Given the description of an element on the screen output the (x, y) to click on. 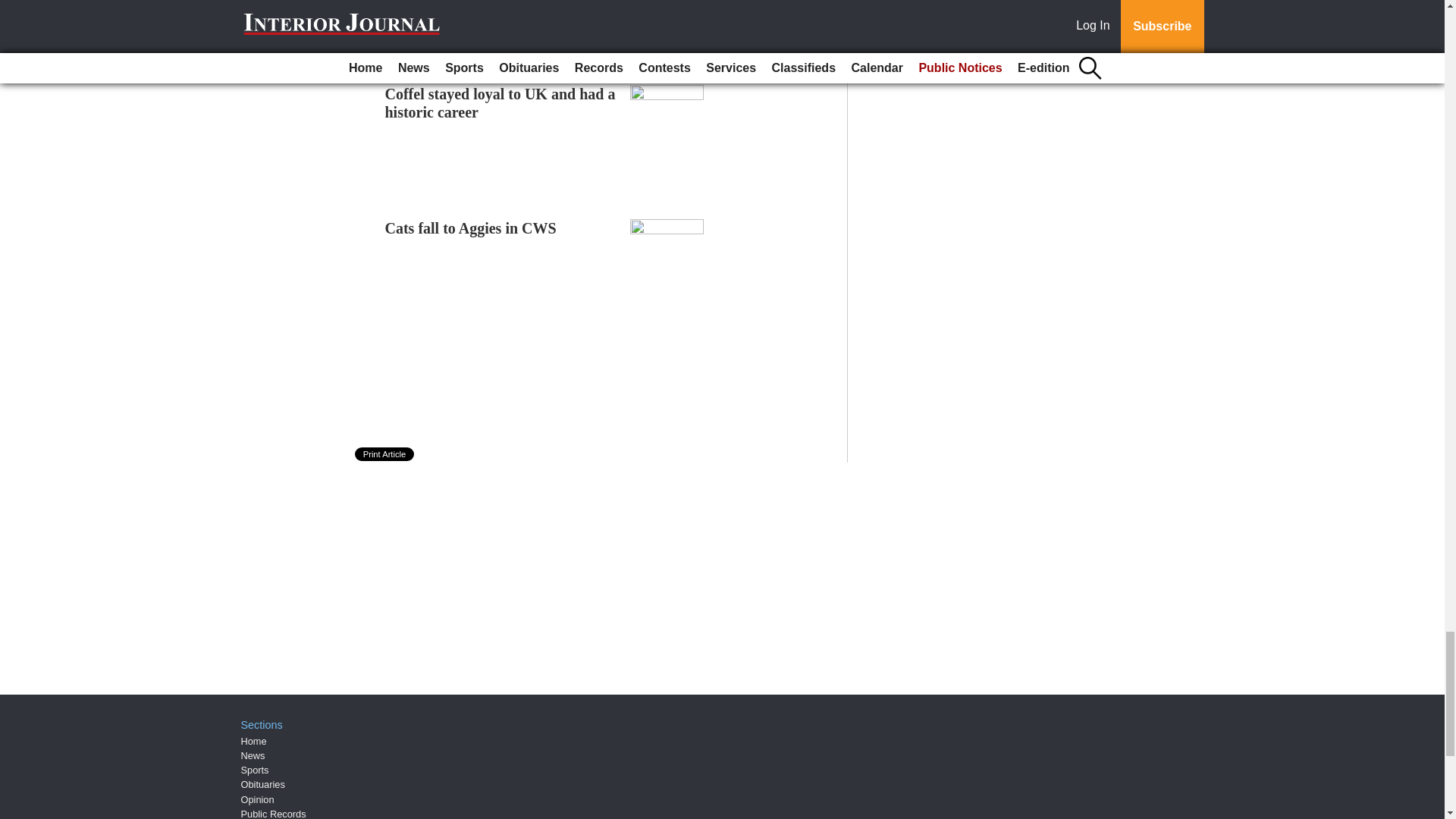
News (252, 755)
Obituaries (263, 784)
Coffel stayed loyal to UK and had a historic career (500, 102)
Print Article (384, 454)
Cats fall to Aggies in CWS (470, 228)
Home (253, 740)
Coffel stayed loyal to UK and had a historic career (500, 102)
Sports (255, 769)
Cats fall to Aggies in CWS (470, 228)
